Given the description of an element on the screen output the (x, y) to click on. 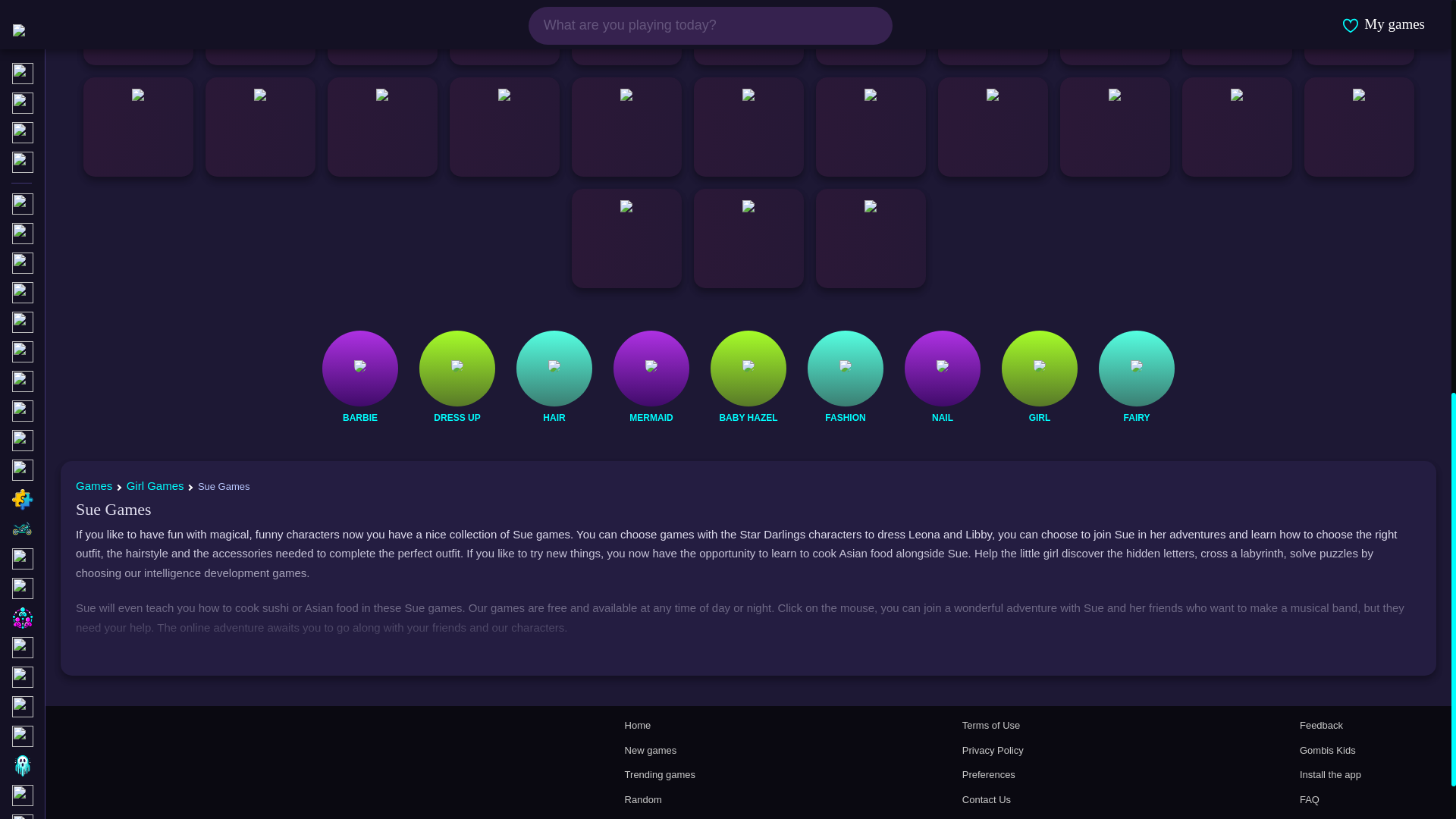
Hair Games (553, 417)
Mermaid Games (651, 417)
Fashion Games (844, 417)
Dress Up Games (457, 417)
Barbie Games (359, 417)
Nail Games (942, 417)
Girl Games (1039, 417)
Board (84, 9)
Baby Hazel Games (748, 417)
Fairy games (1136, 417)
